Given the description of an element on the screen output the (x, y) to click on. 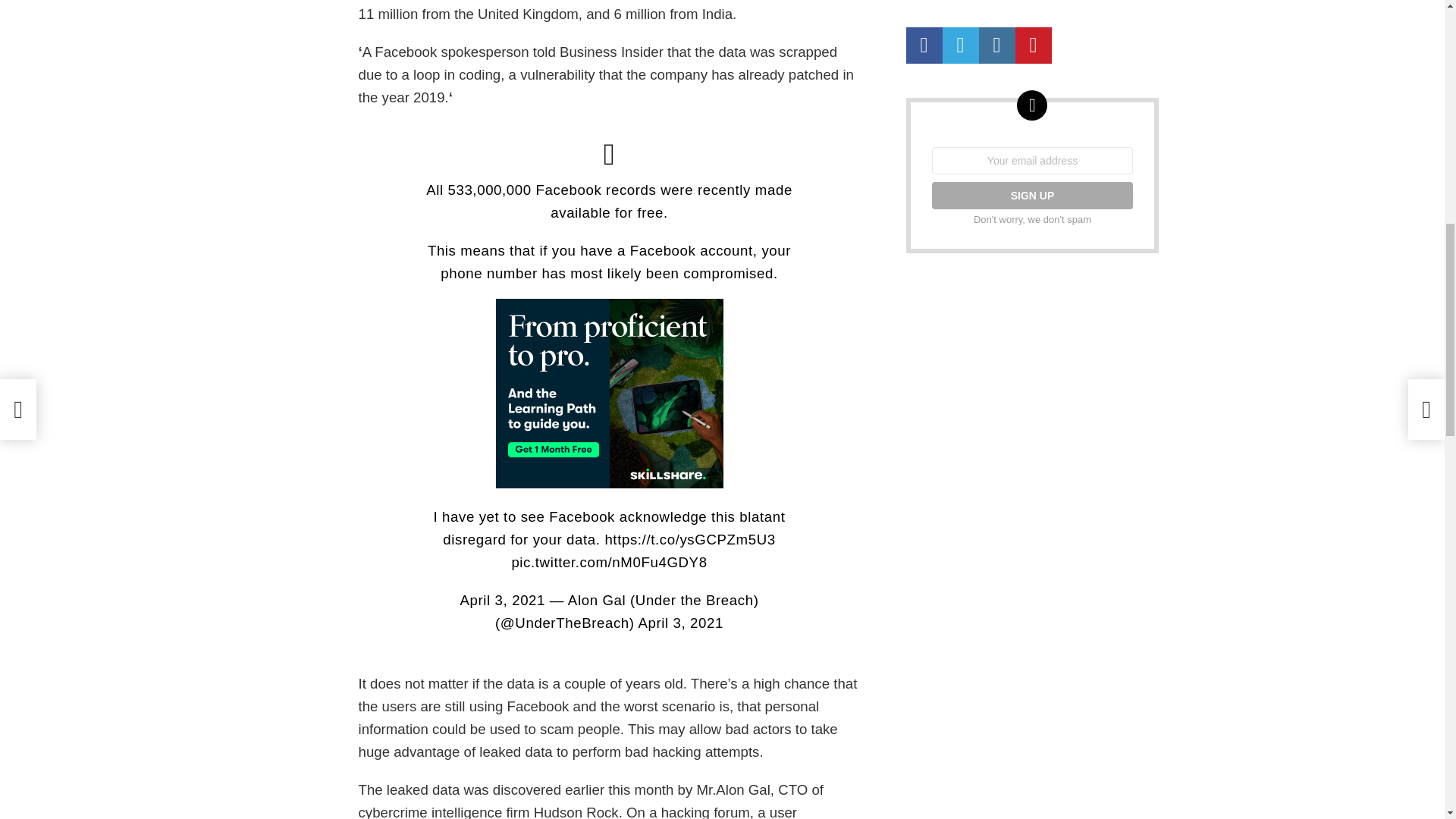
Sign up (1031, 195)
April 3, 2021 (503, 600)
